Given the description of an element on the screen output the (x, y) to click on. 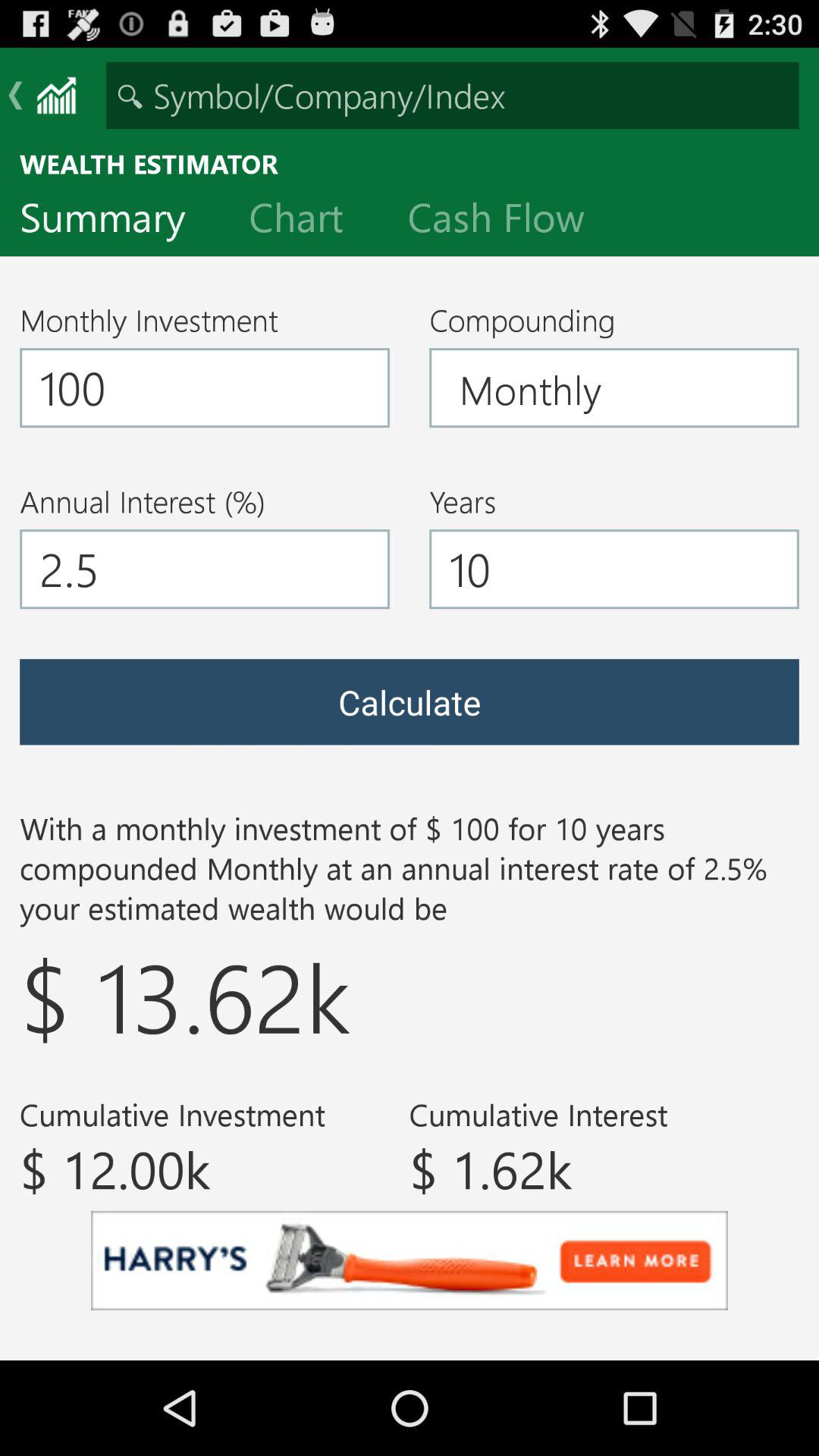
tap icon to the right of summary item (308, 220)
